Given the description of an element on the screen output the (x, y) to click on. 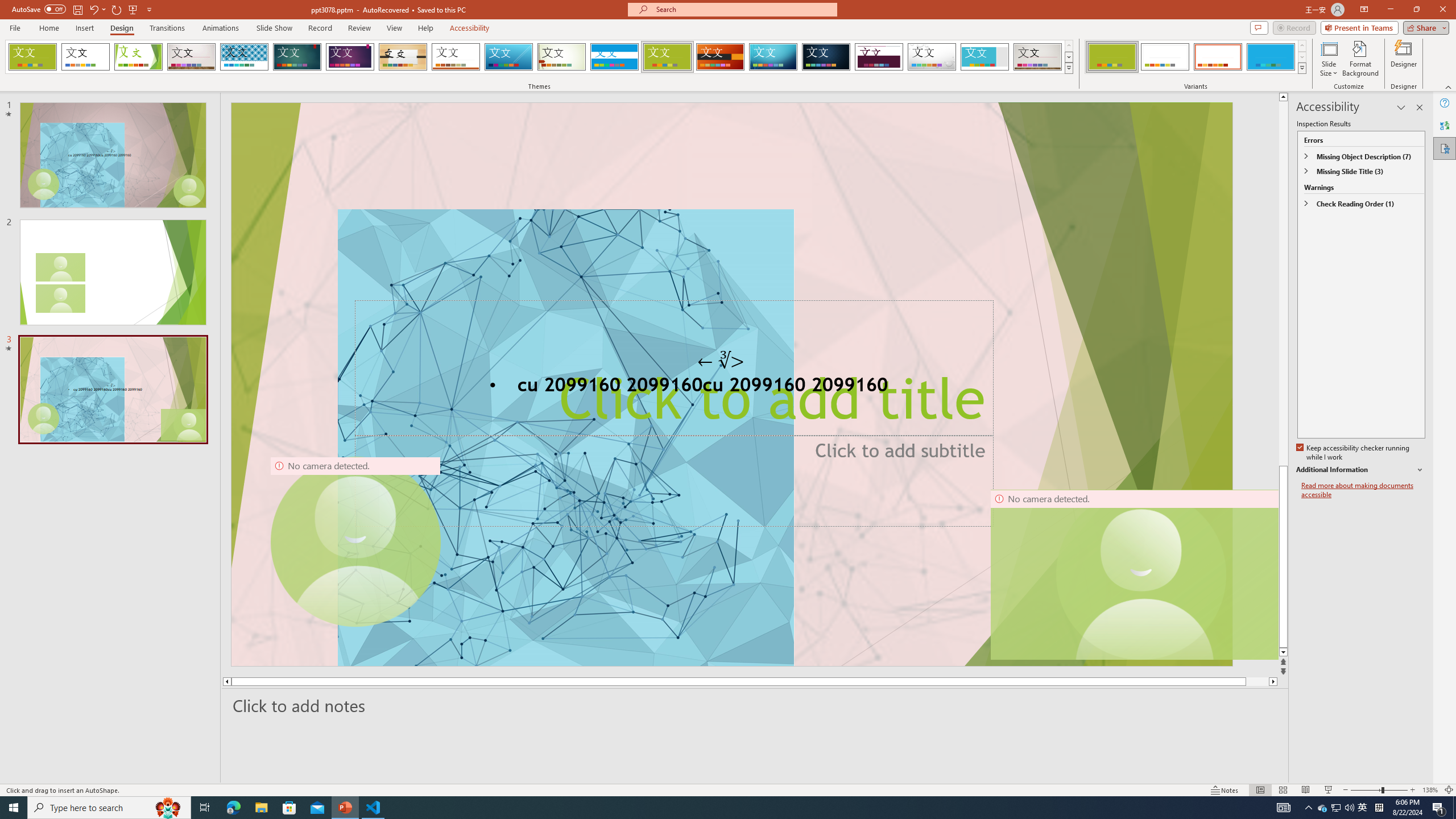
Themes (1068, 67)
An abstract genetic concept (731, 384)
AutomationID: SlideThemesGallery (539, 56)
Zoom 138% (1430, 790)
Damask (826, 56)
